Given the description of an element on the screen output the (x, y) to click on. 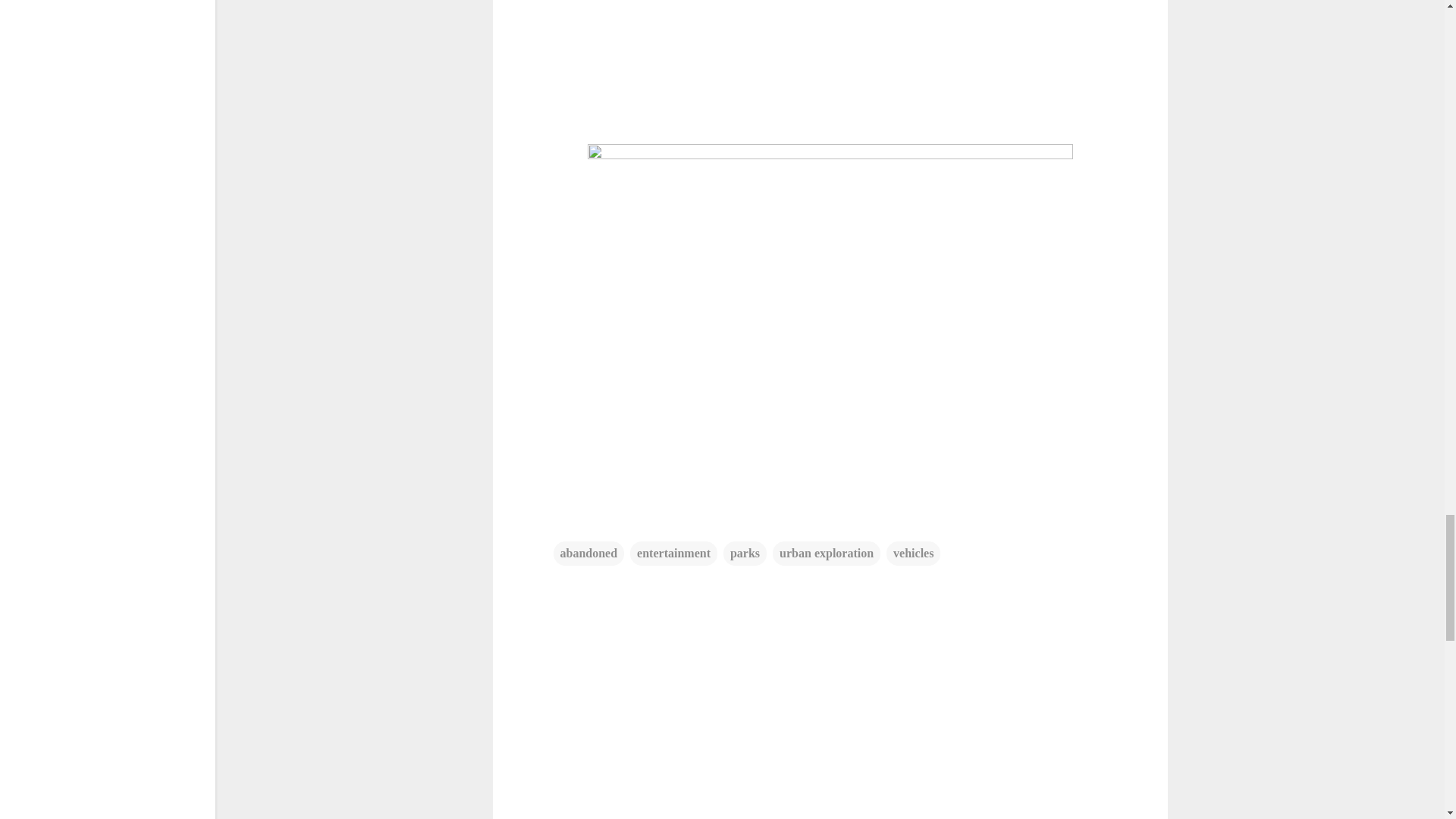
urban exploration (826, 553)
vehicles (913, 553)
parks (745, 553)
abandoned (588, 553)
entertainment (673, 553)
